Given the description of an element on the screen output the (x, y) to click on. 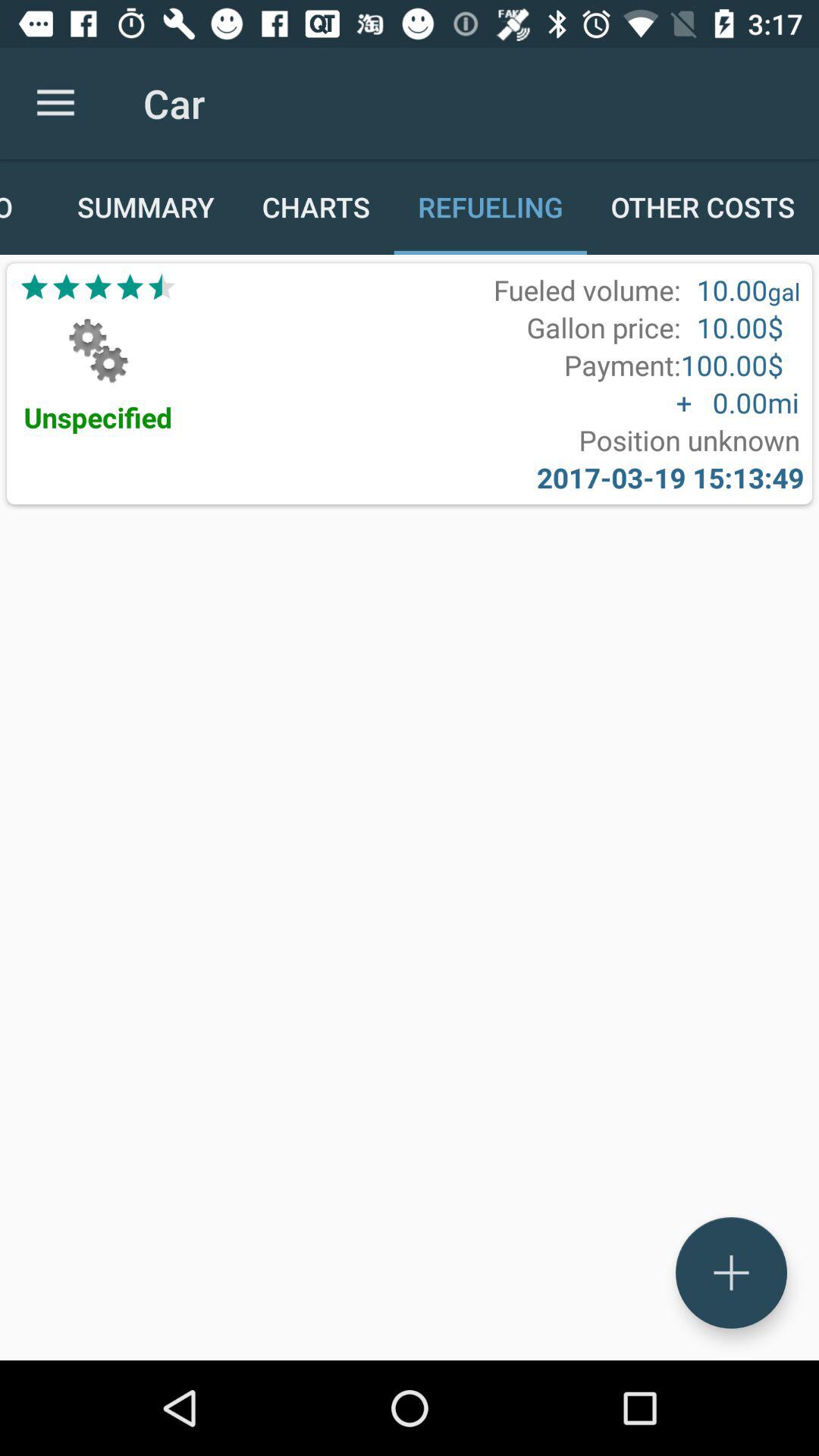
choose item to the right of the unspecified (689, 439)
